Given the description of an element on the screen output the (x, y) to click on. 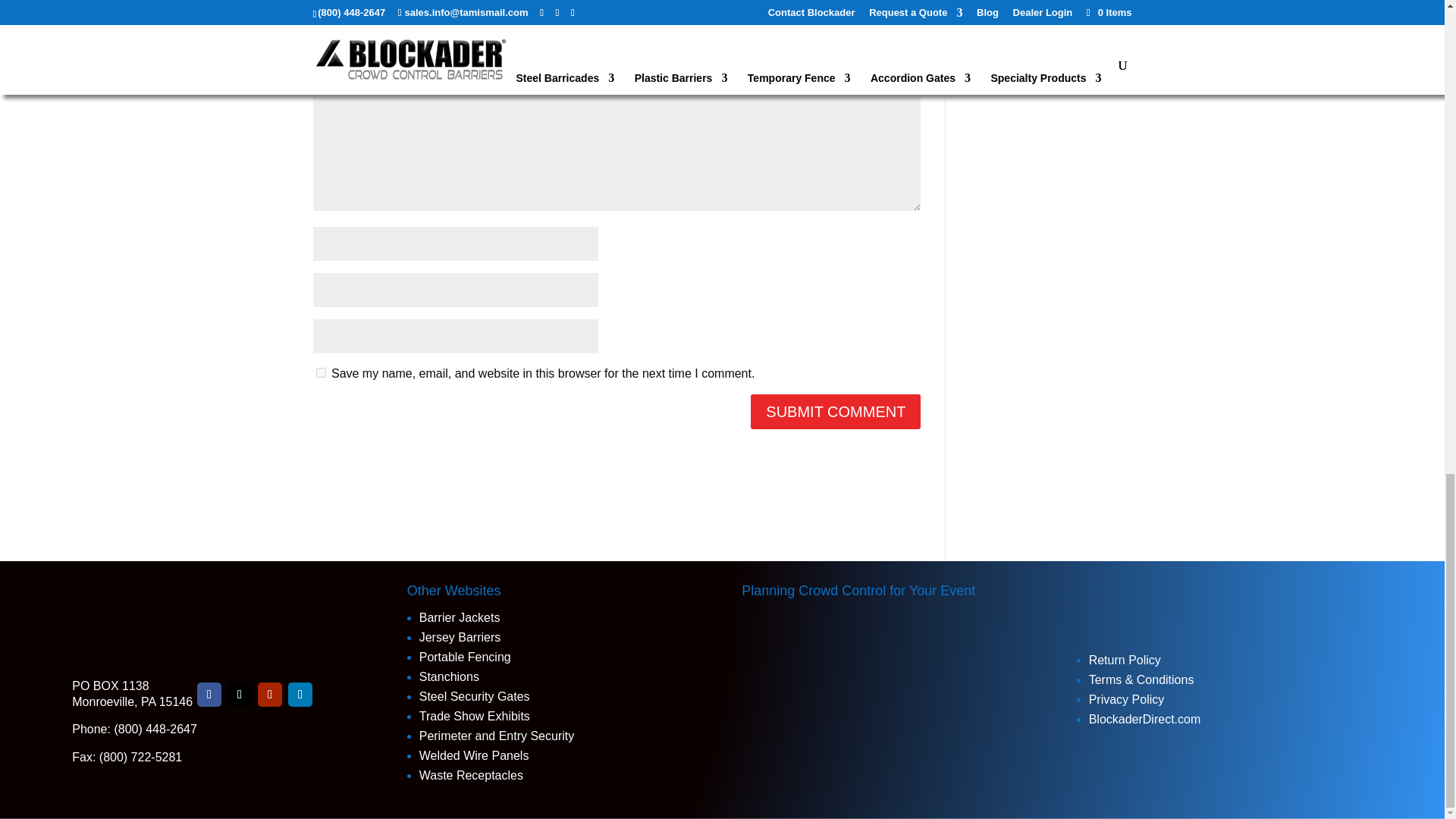
Submit Comment (835, 411)
yes (319, 372)
